Given the description of an element on the screen output the (x, y) to click on. 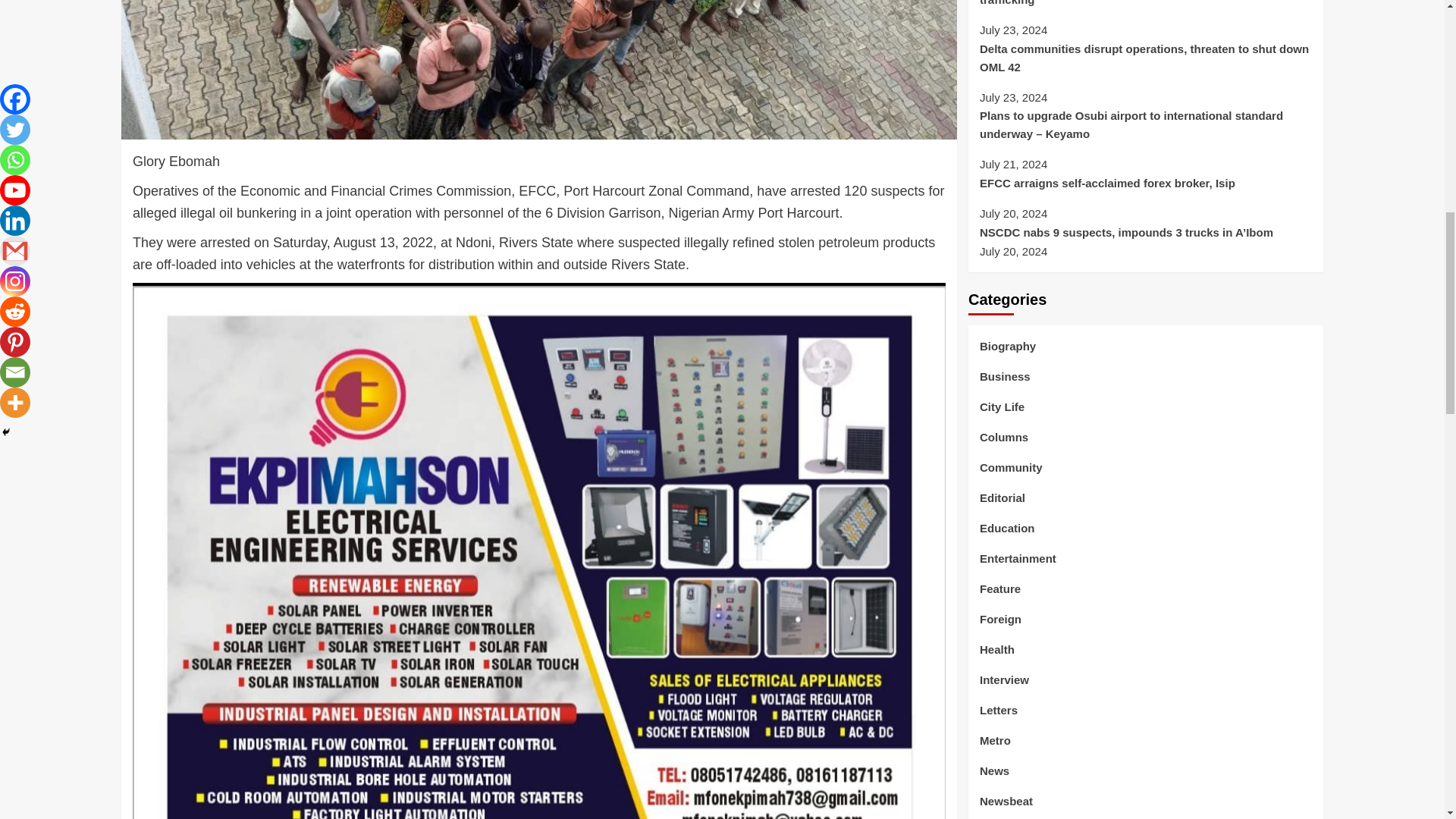
Search (1261, 728)
Search (1261, 728)
